Given the description of an element on the screen output the (x, y) to click on. 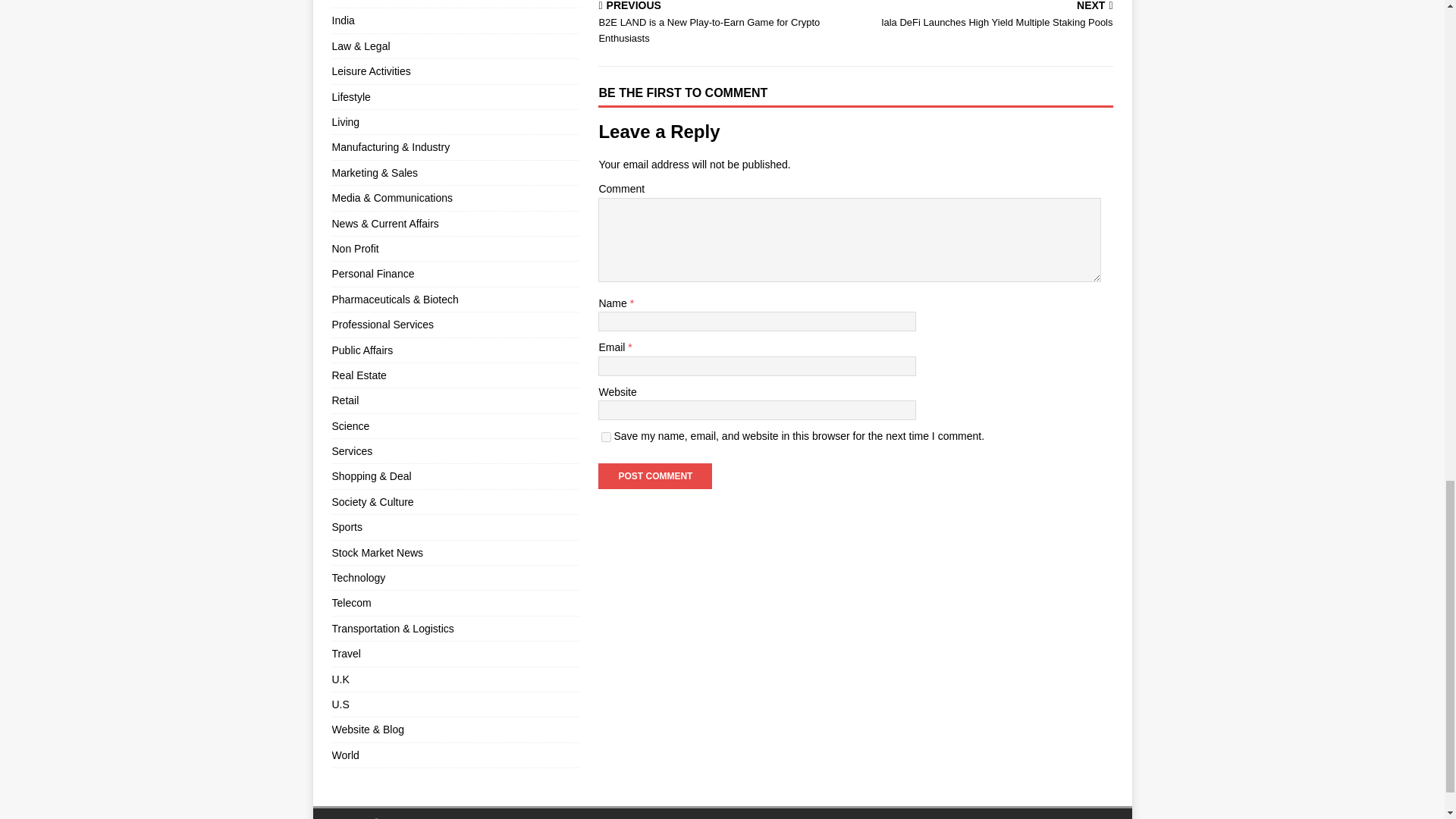
Post Comment (987, 15)
yes (654, 475)
Post Comment (606, 437)
